Given the description of an element on the screen output the (x, y) to click on. 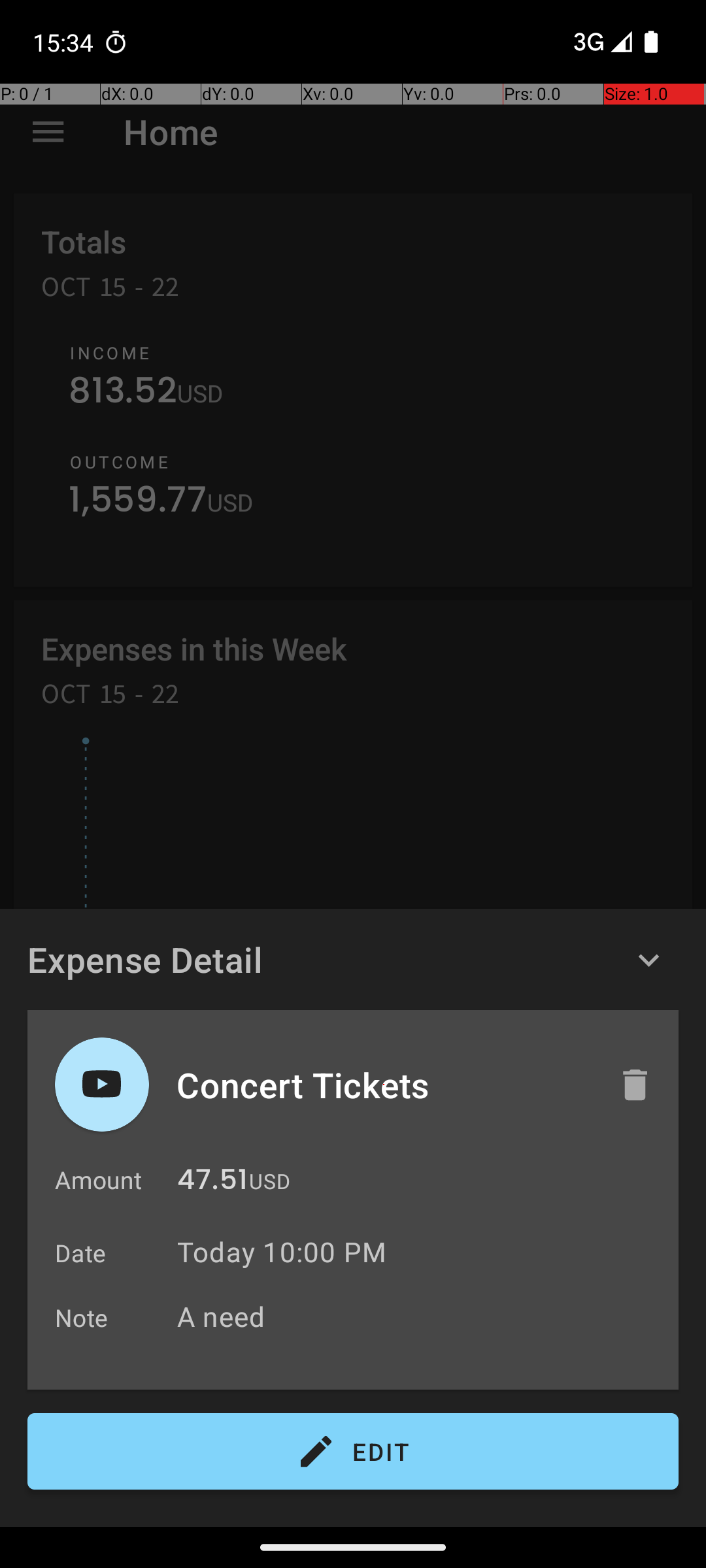
Concert Tickets Element type: android.widget.TextView (383, 1084)
47.51 Element type: android.widget.TextView (212, 1182)
